Given the description of an element on the screen output the (x, y) to click on. 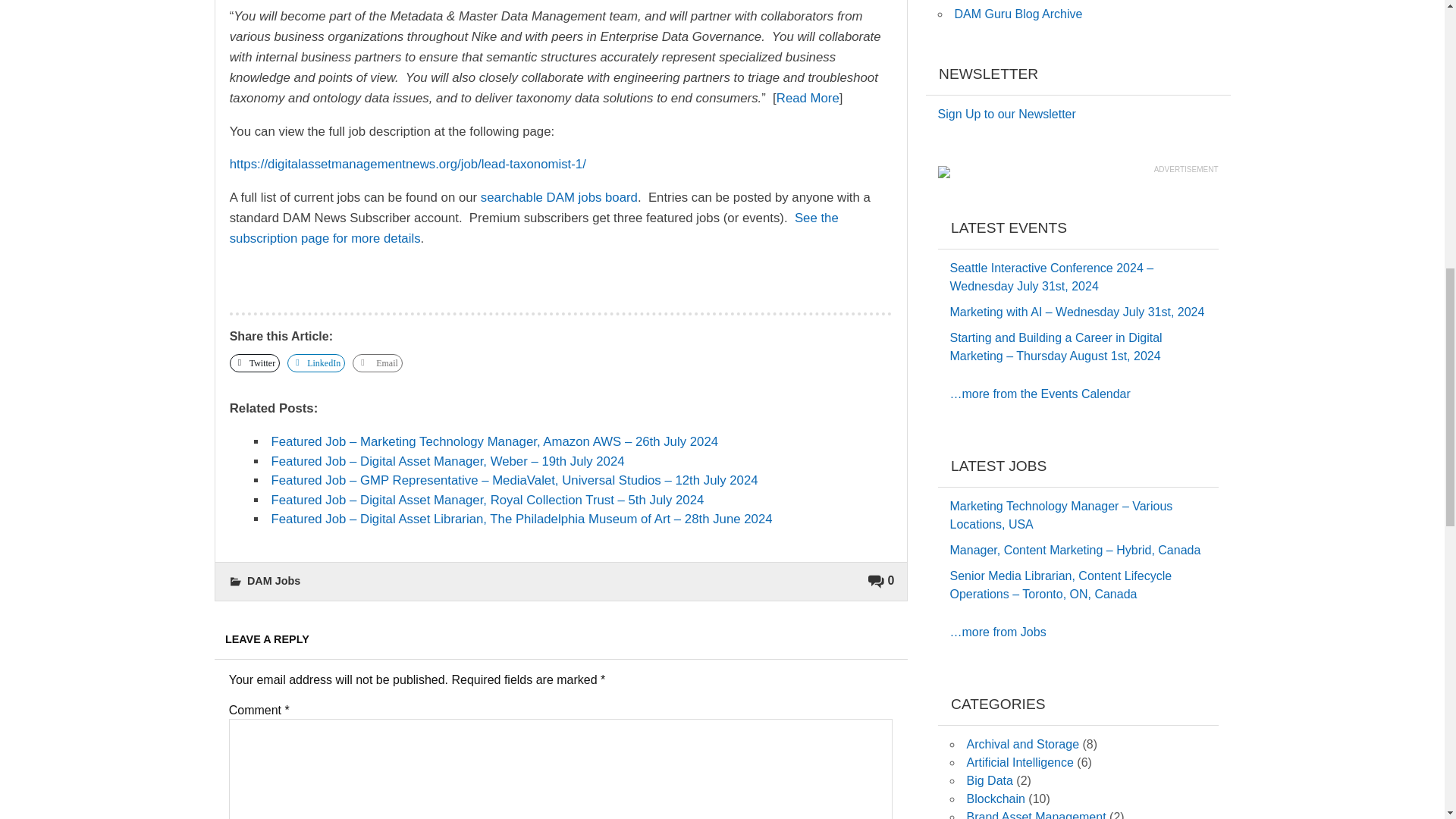
searchable DAM jobs board (558, 197)
LinkedIn (315, 362)
DAM Guru Blog Archive (1017, 13)
Read More (808, 97)
Twitter (254, 362)
Email (377, 362)
See the subscription page for more details (534, 227)
